Given the description of an element on the screen output the (x, y) to click on. 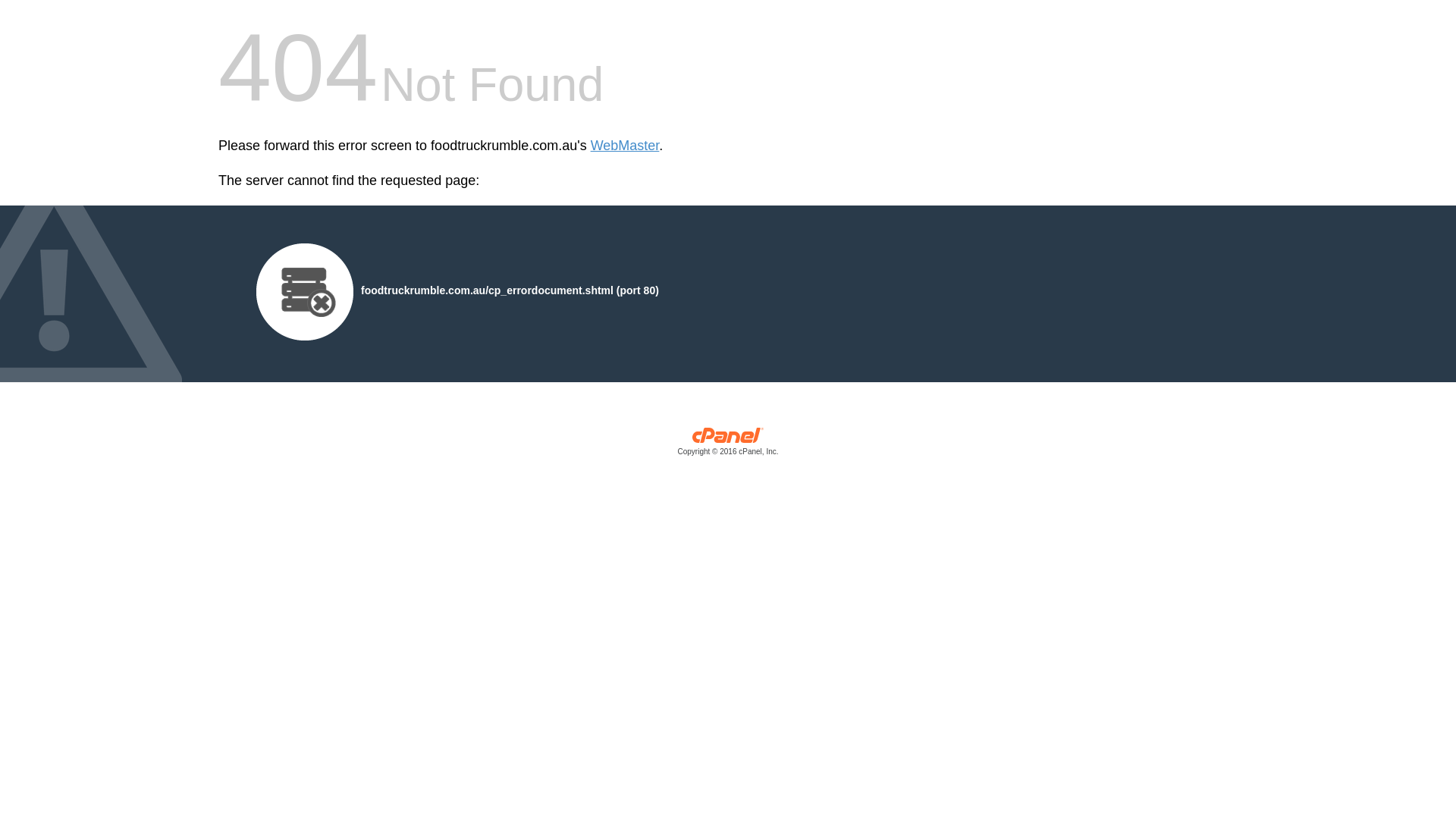
WebMaster Element type: text (624, 145)
